Given the description of an element on the screen output the (x, y) to click on. 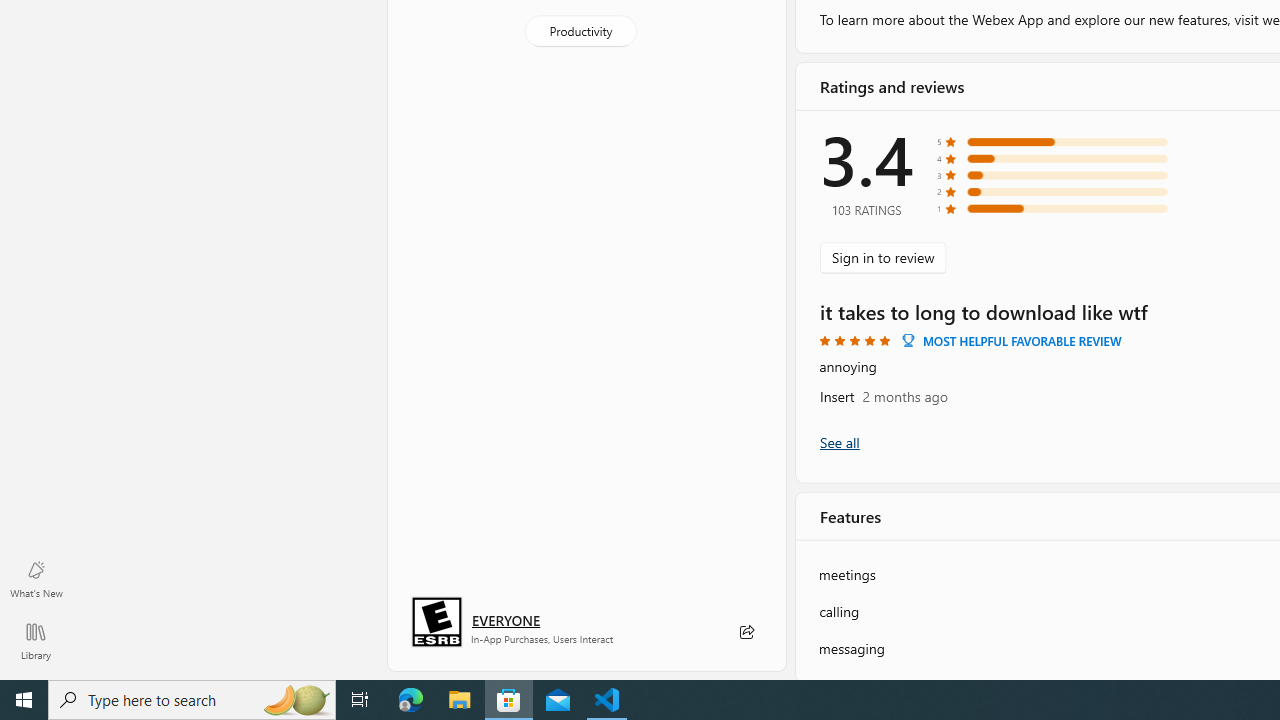
Show all ratings and reviews (838, 441)
Sign in to review (882, 256)
Share (746, 632)
What's New (35, 578)
Productivity (579, 30)
Age rating: EVERYONE. Click for more information. (506, 619)
Library (35, 640)
